Given the description of an element on the screen output the (x, y) to click on. 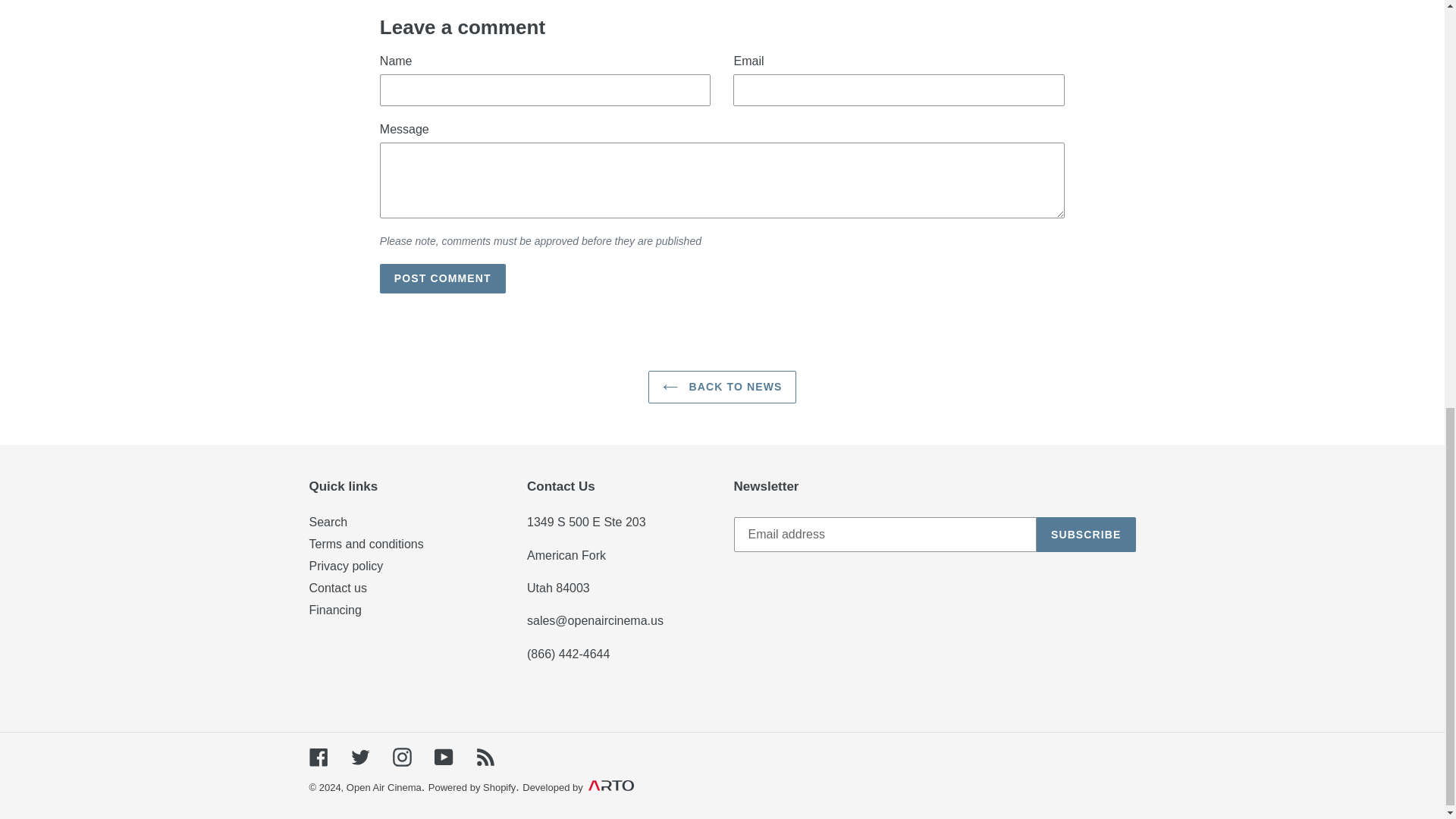
Post comment (442, 278)
